Given the description of an element on the screen output the (x, y) to click on. 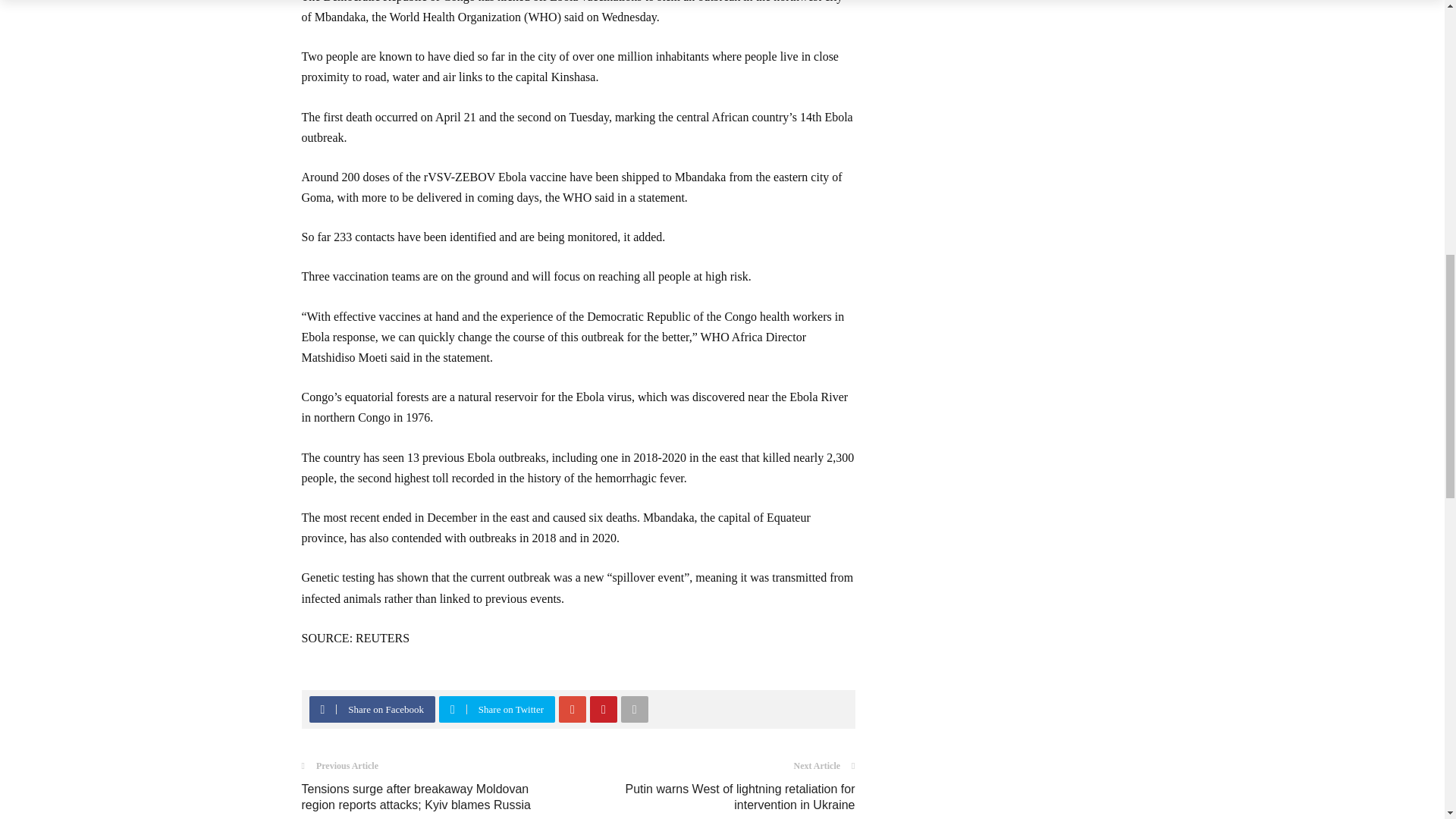
Pinterest (603, 709)
Google Plus (572, 709)
Facebook (322, 709)
Twitter (451, 709)
